Given the description of an element on the screen output the (x, y) to click on. 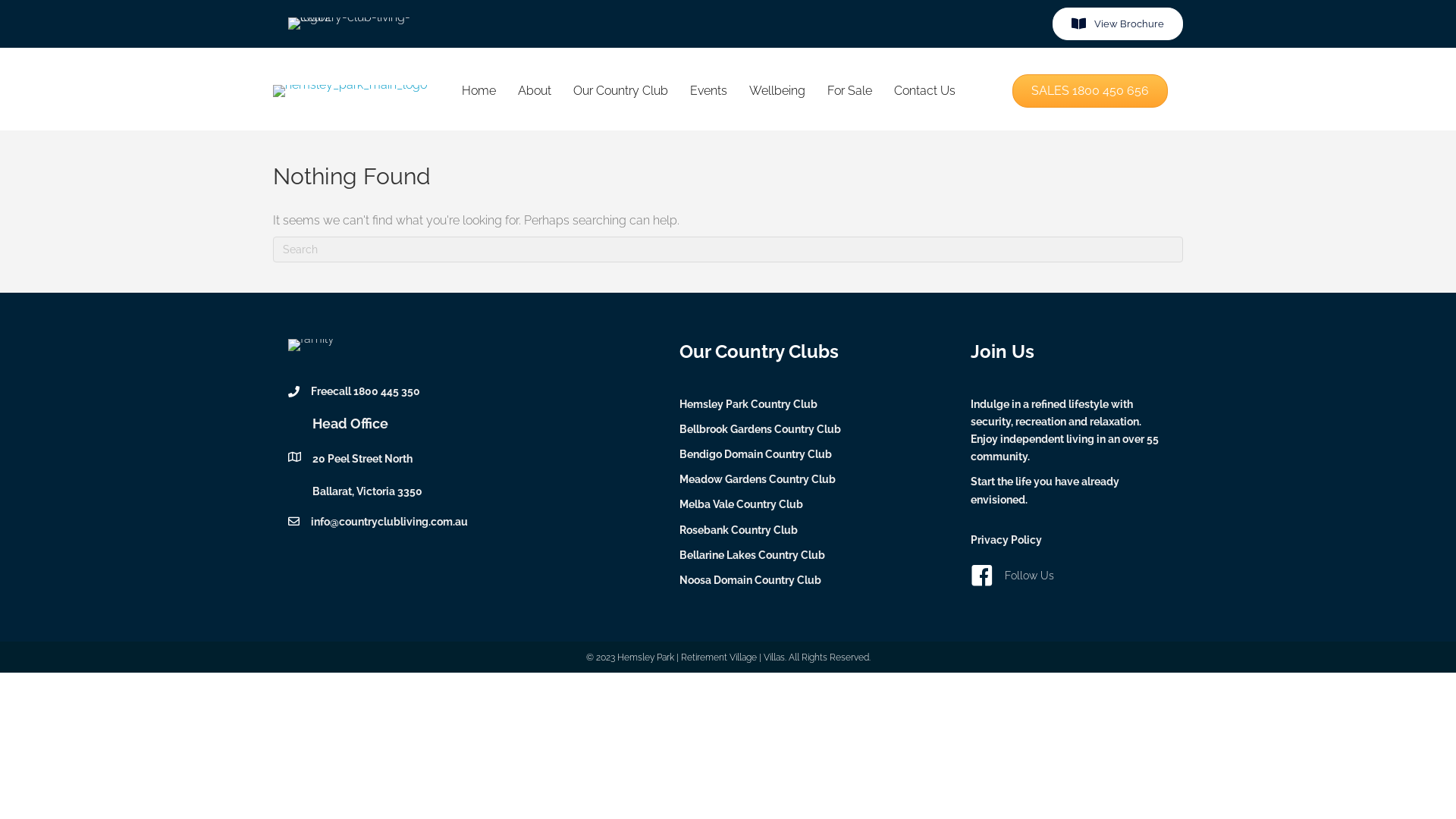
Bellarine Lakes Country Club Element type: text (752, 555)
Privacy Policy Element type: text (1005, 539)
Our Country Club Element type: text (620, 90)
View Brochure Element type: text (1117, 23)
Bellbrook Gardens Country Club Element type: text (759, 429)
info@countryclubliving.com.au Element type: text (388, 521)
Contact Us Element type: text (924, 90)
hemsley_park_main_logo Element type: hover (349, 90)
Melba Vale Country Club Element type: text (741, 504)
Meadow Gardens Country Club Element type: text (757, 479)
Follow Us Element type: text (1029, 575)
Grandparents With Grandchildren Walking Along Autumn Path Element type: hover (311, 344)
Home Element type: text (478, 90)
Noosa Domain Country Club Element type: text (750, 580)
Type and press Enter to search. Element type: hover (728, 249)
Hemsley Park Country Club Element type: text (748, 403)
Bendigo Domain Country Club Element type: text (755, 454)
country-club-living-logo2 Element type: hover (355, 23)
Rosebank Country Club Element type: text (738, 530)
Events Element type: text (708, 90)
SALES 1800 450 656 Element type: text (1089, 90)
For Sale Element type: text (849, 90)
About Element type: text (534, 90)
Freecall 1800 445 350 Element type: text (365, 390)
Wellbeing Element type: text (776, 90)
